Given the description of an element on the screen output the (x, y) to click on. 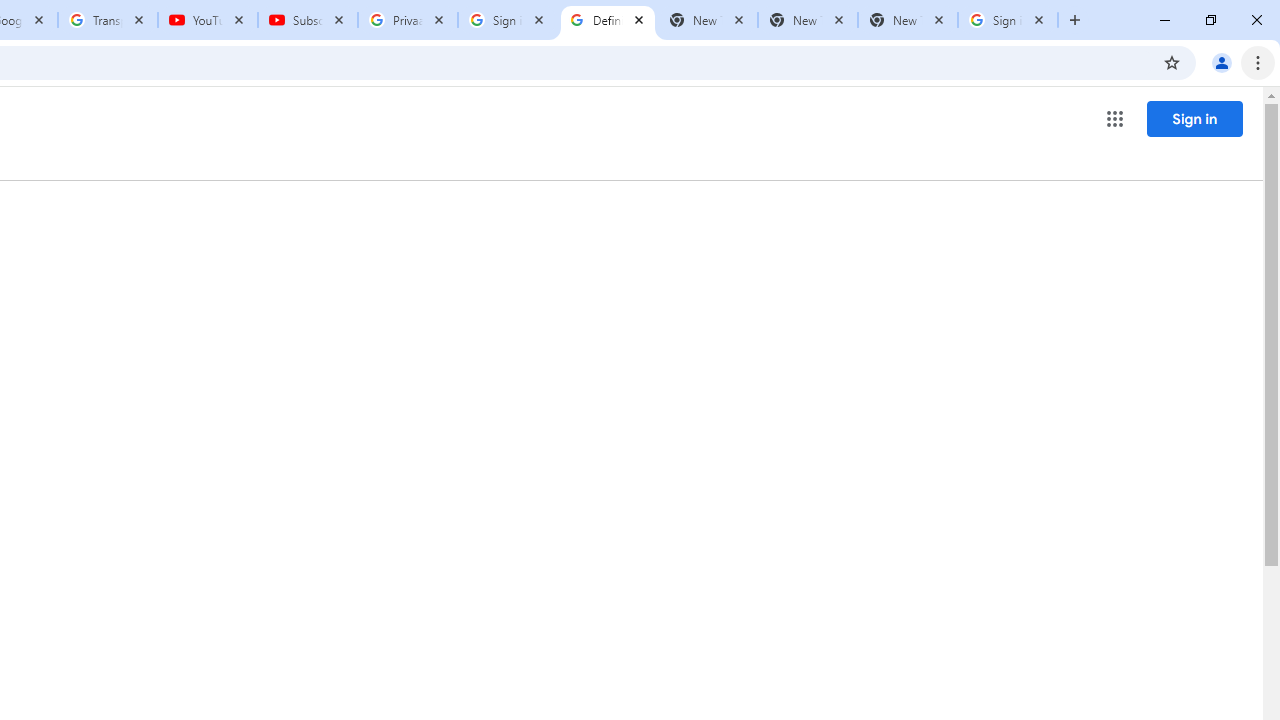
Sign in - Google Accounts (508, 20)
Subscriptions - YouTube (308, 20)
YouTube (207, 20)
Sign in - Google Accounts (1007, 20)
